Given the description of an element on the screen output the (x, y) to click on. 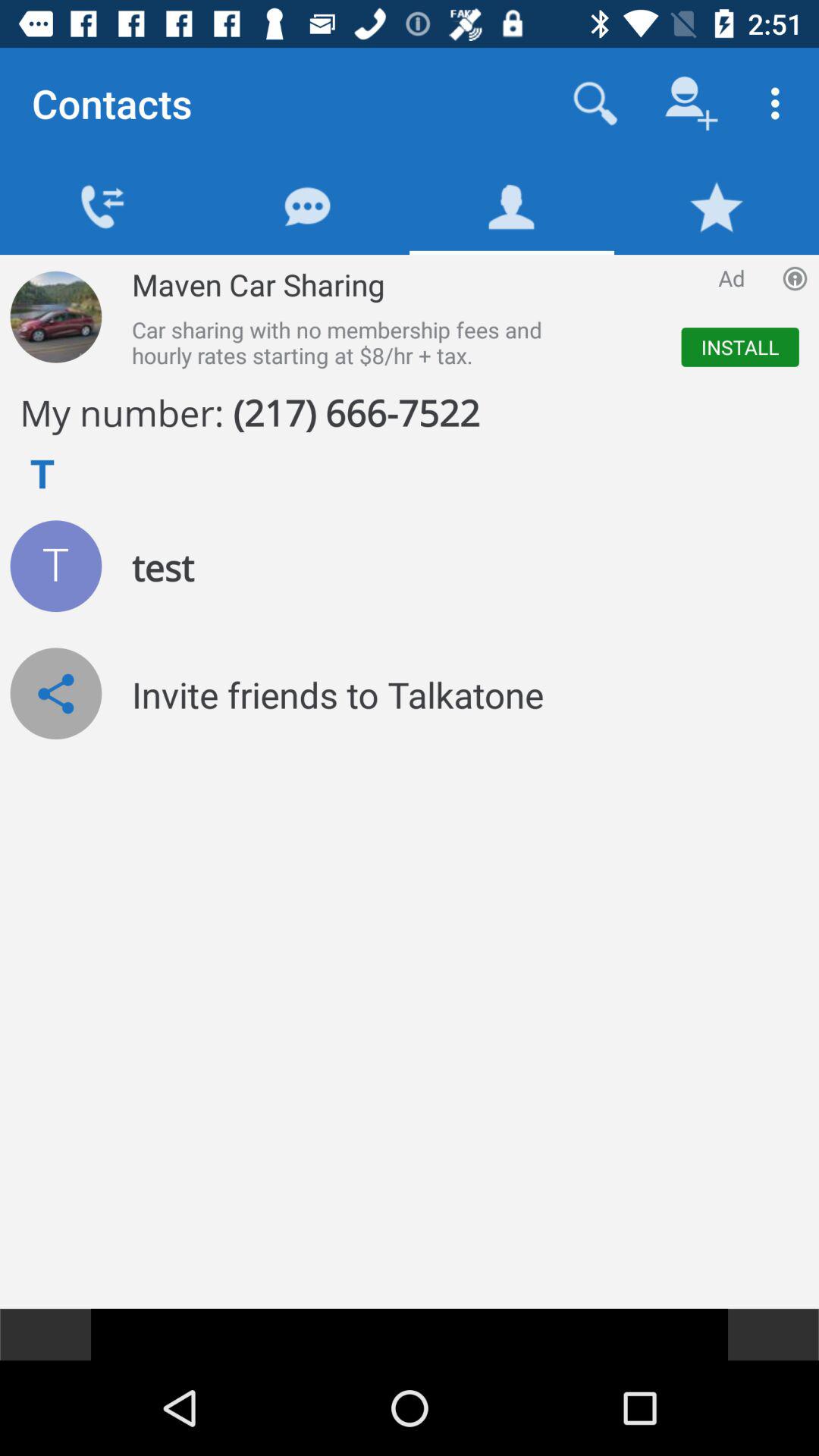
share icon (55, 693)
select the car image (55, 316)
click on the icon which is left to the test (55, 565)
click on the advertisement (460, 317)
click on the icon which is next to search icon (691, 103)
